Given the description of an element on the screen output the (x, y) to click on. 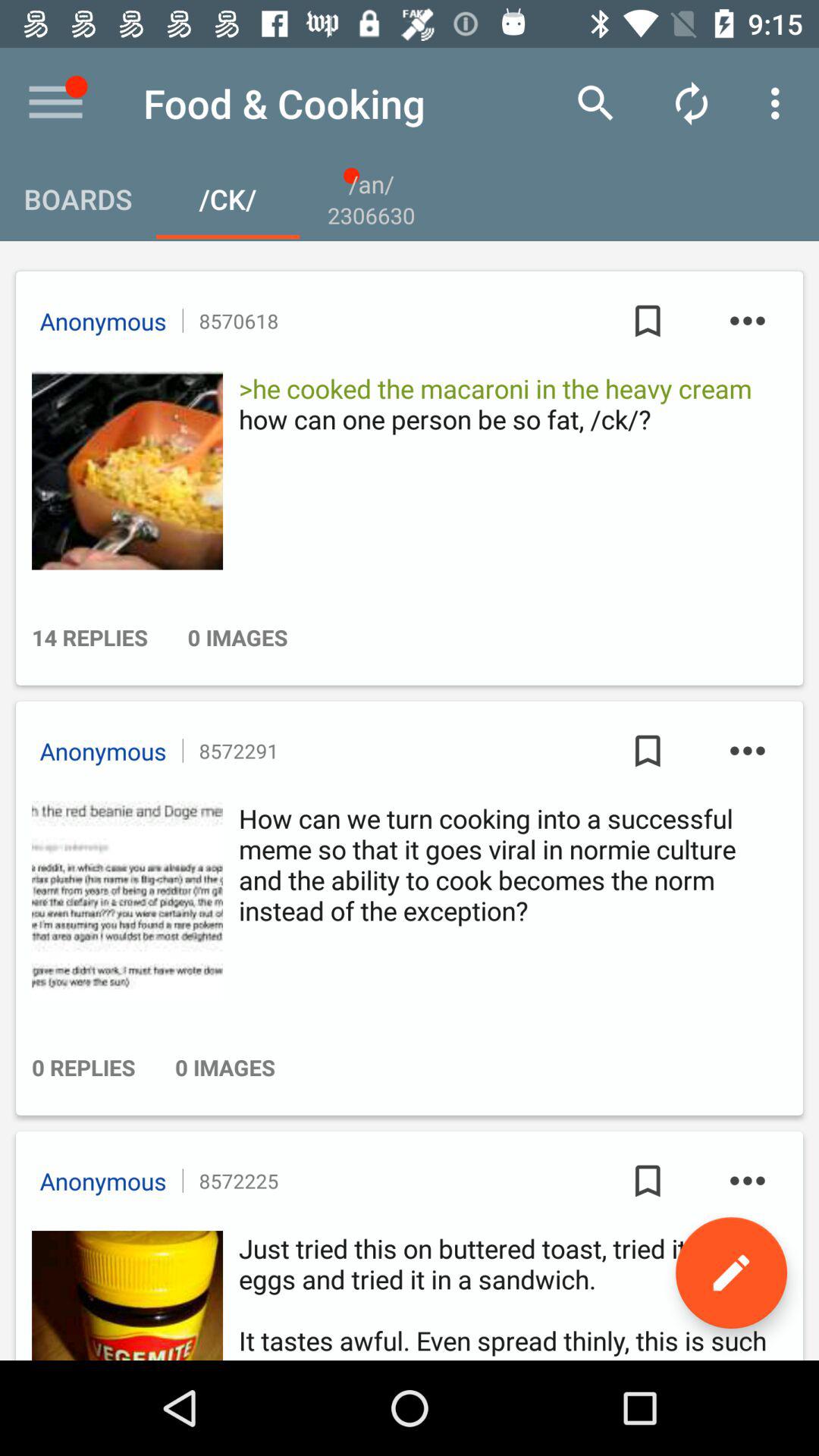
advertisement (122, 899)
